Given the description of an element on the screen output the (x, y) to click on. 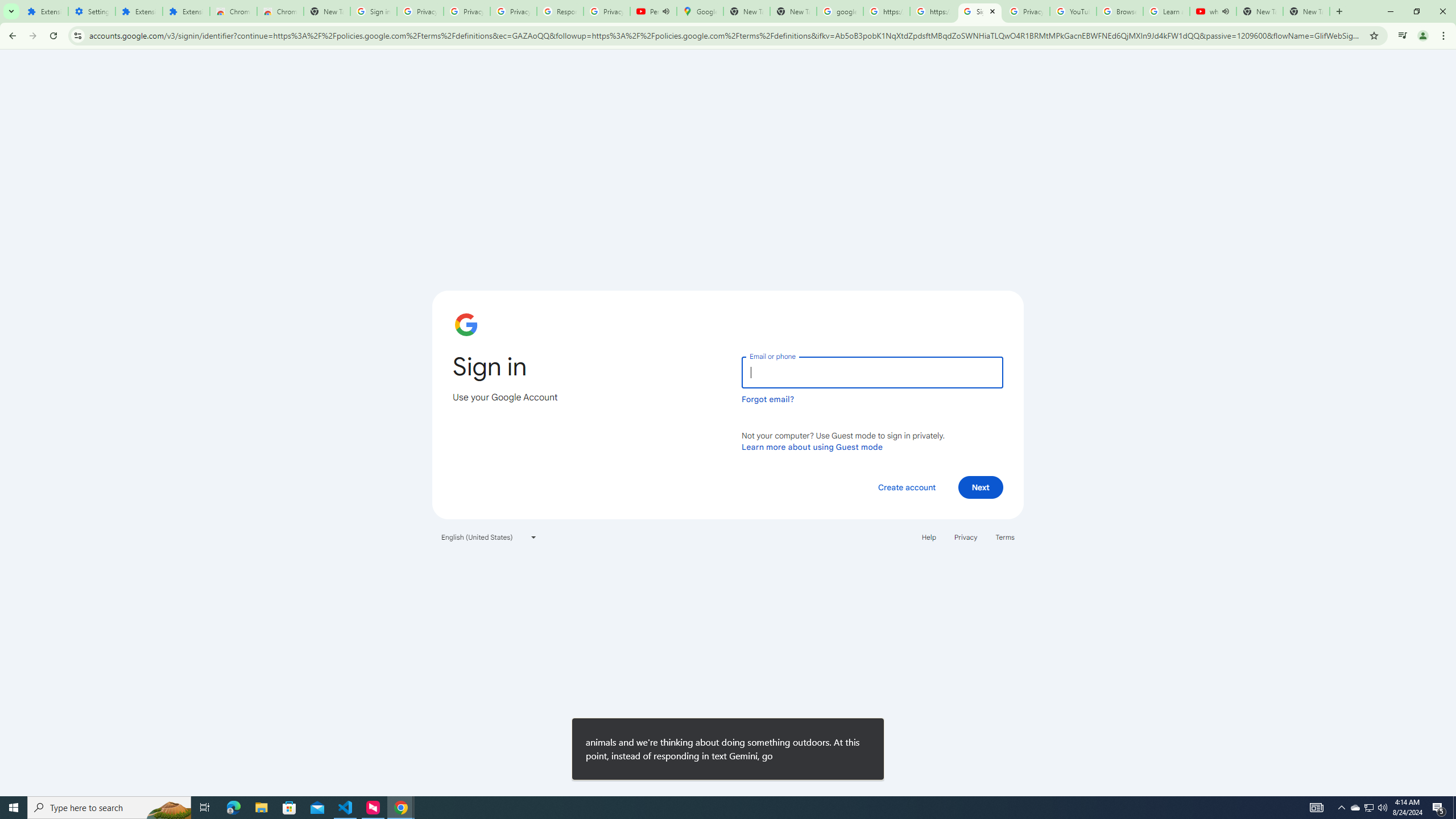
Create account (905, 486)
Sign in - Google Accounts (373, 11)
Extensions (44, 11)
YouTube (1073, 11)
Control your music, videos, and more (1402, 35)
Next (980, 486)
Google Maps (699, 11)
Email or phone (871, 372)
